Given the description of an element on the screen output the (x, y) to click on. 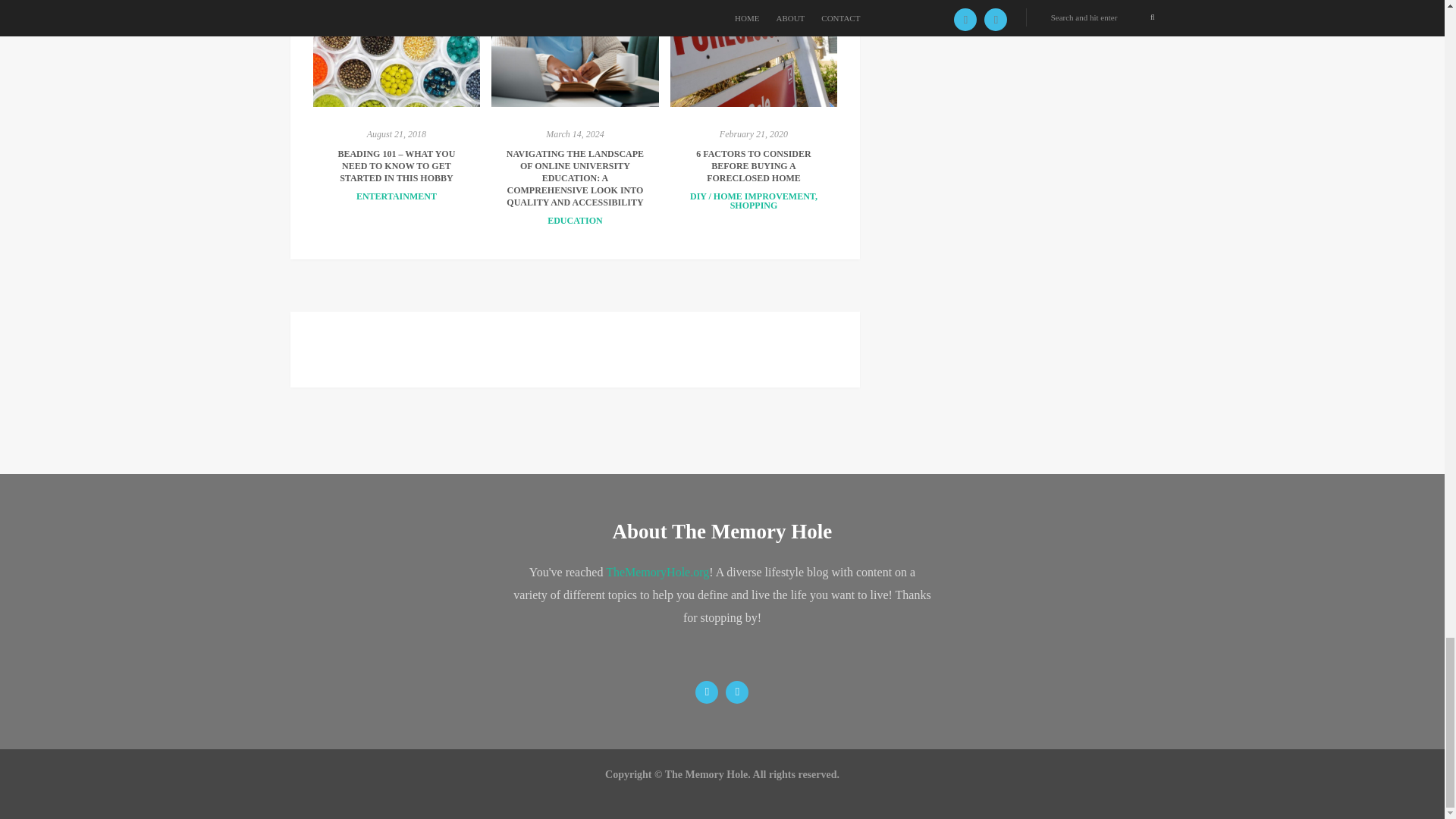
ENTERTAINMENT (396, 195)
6 FACTORS TO CONSIDER BEFORE BUYING A FORECLOSED HOME (752, 165)
EDUCATION (574, 220)
